Given the description of an element on the screen output the (x, y) to click on. 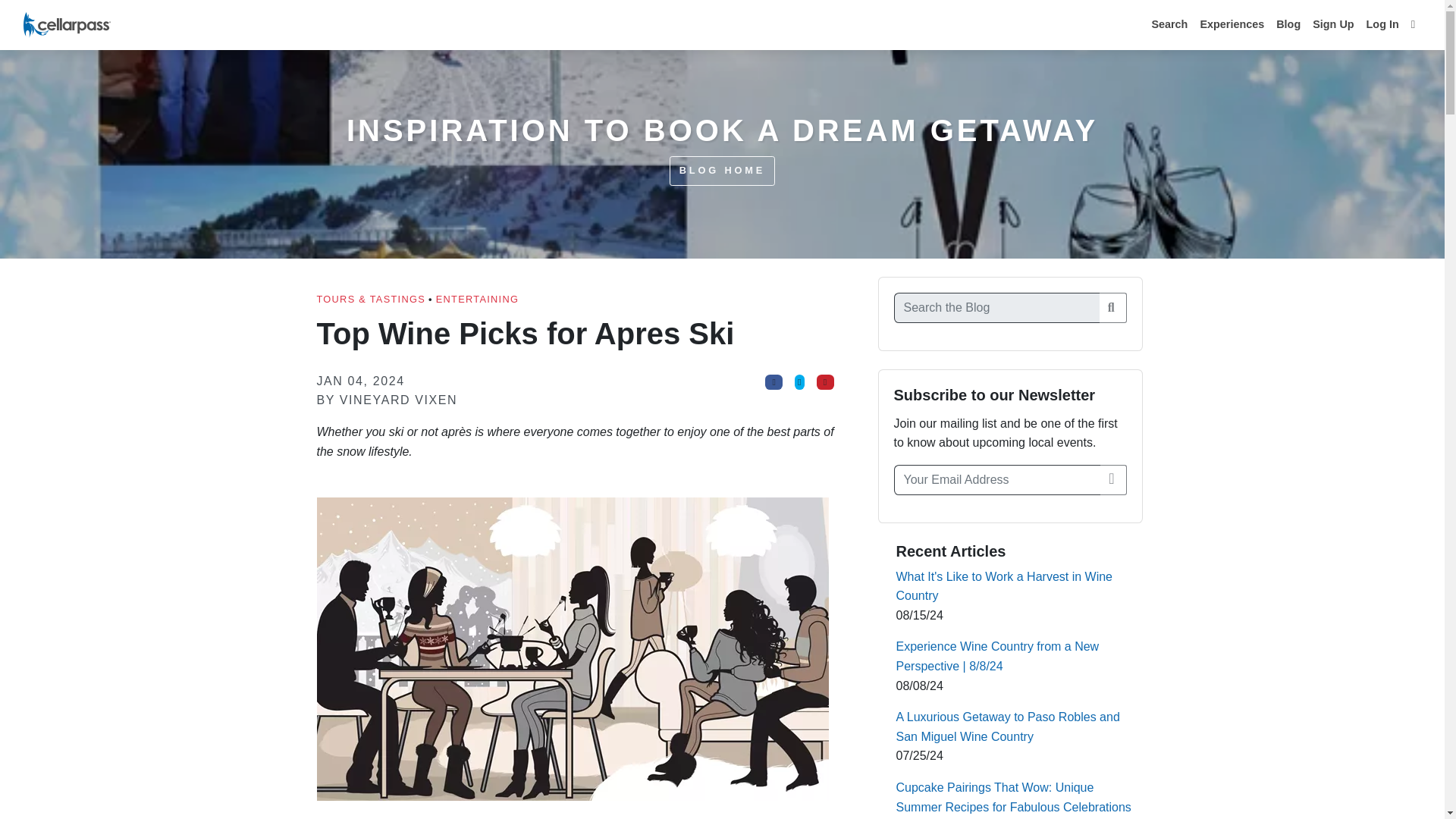
Blog (1287, 24)
Search (1168, 24)
ENTERTAINING (476, 298)
Log In (1382, 24)
Sign Up (1332, 24)
BLOG HOME (721, 170)
Experiences (1231, 24)
